Given the description of an element on the screen output the (x, y) to click on. 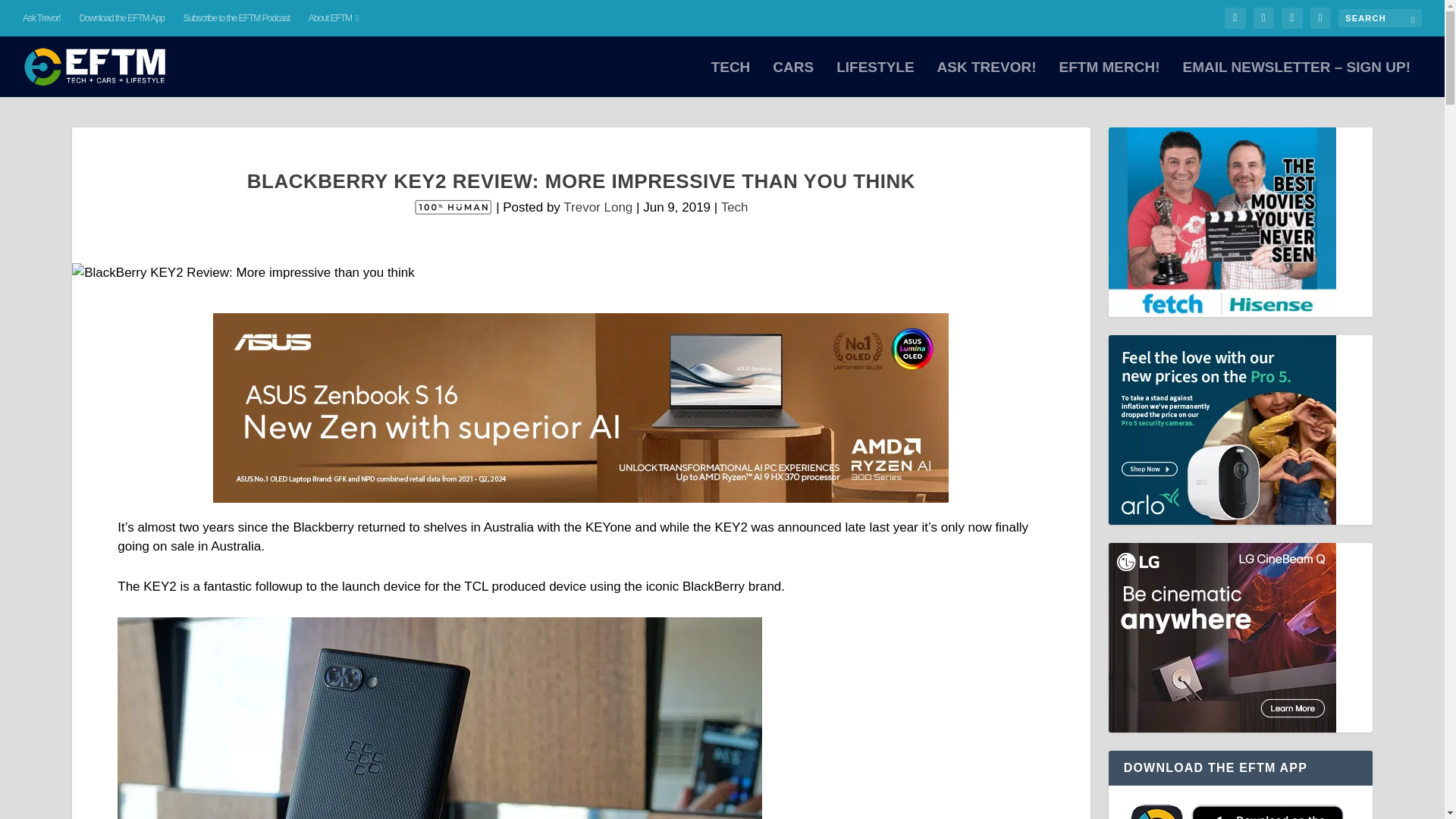
Subscribe to the EFTM Podcast (236, 18)
Ask Trevor! (42, 18)
EFTM MERCH! (1108, 79)
About EFTM (333, 18)
ASK TREVOR! (986, 79)
Posts by Trevor Long (597, 206)
Tech (734, 206)
Trevor Long (597, 206)
Download the EFTM App (120, 18)
TECH (731, 79)
Search for: (1380, 18)
CARS (793, 79)
LIFESTYLE (874, 79)
